Given the description of an element on the screen output the (x, y) to click on. 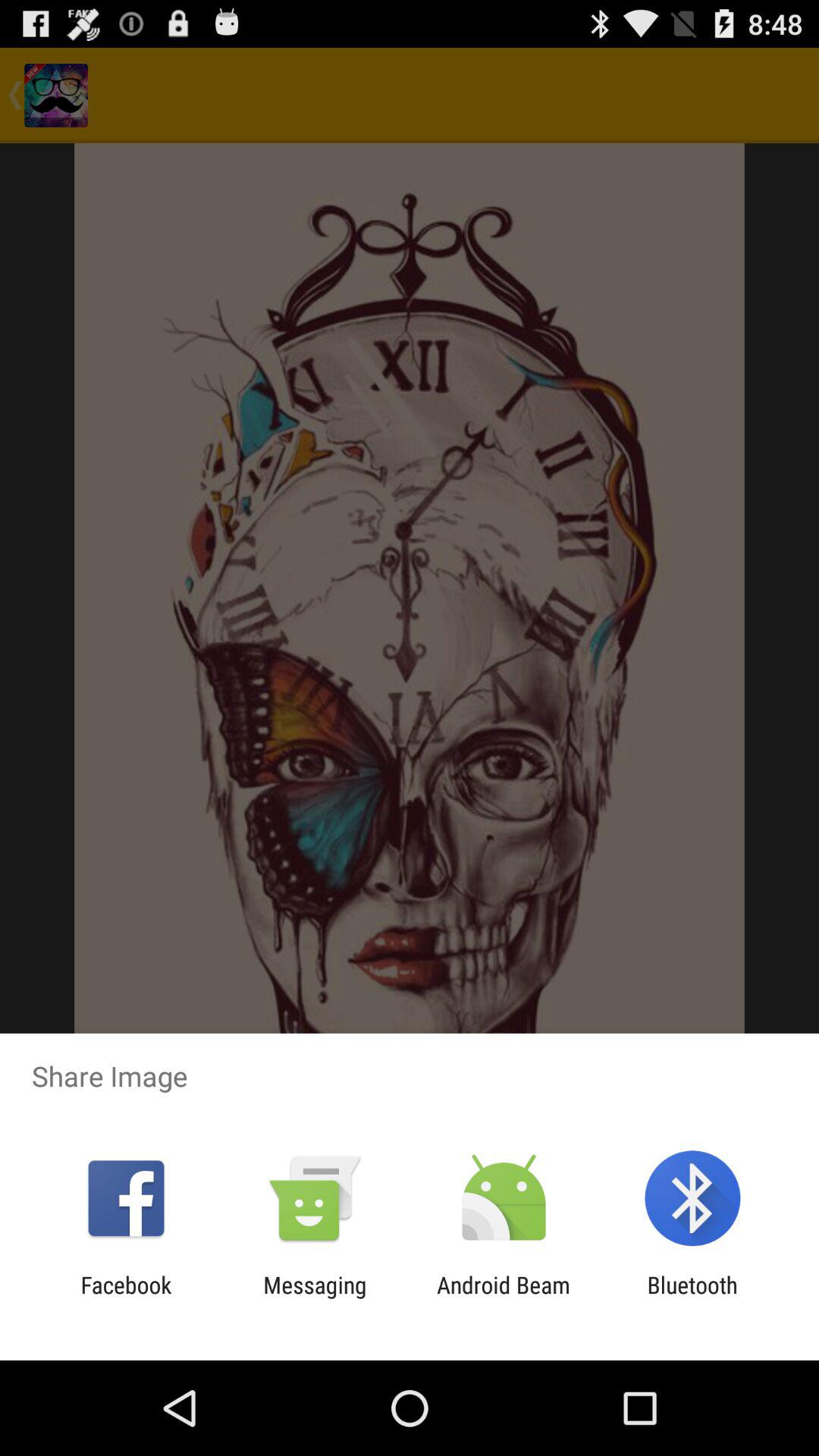
turn on item to the left of the android beam (314, 1298)
